Given the description of an element on the screen output the (x, y) to click on. 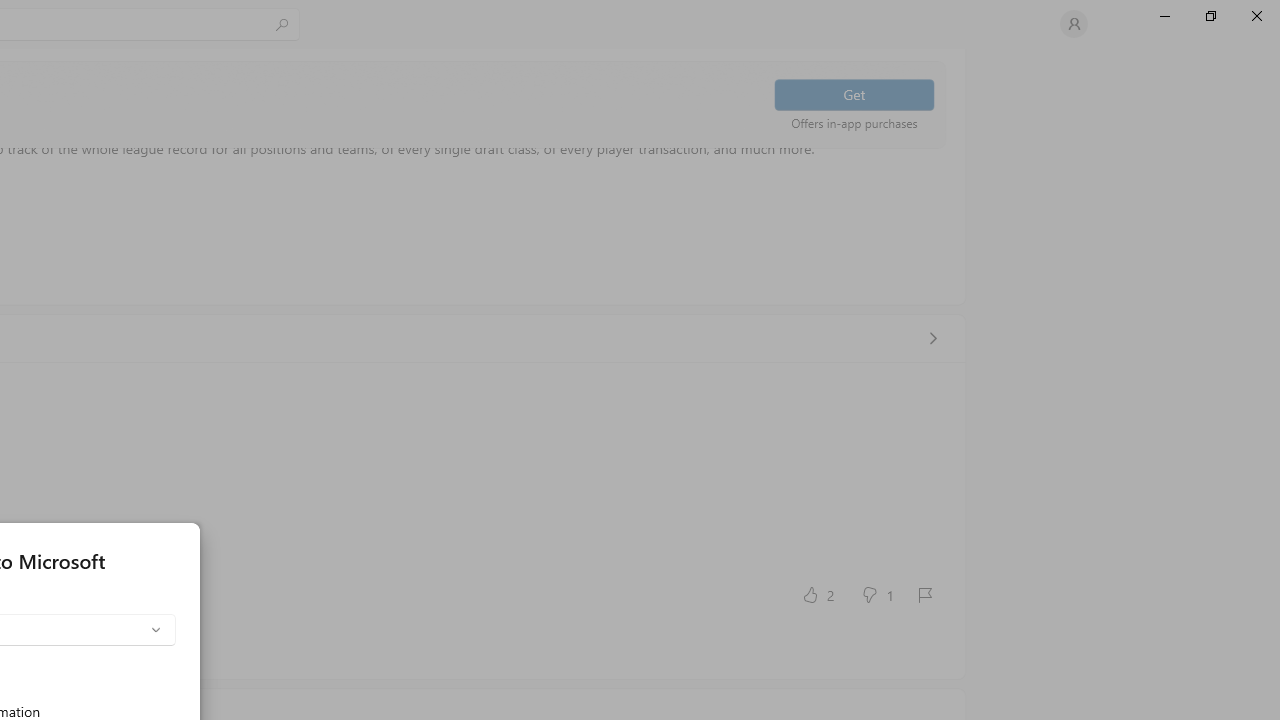
Yes, this was helpful. 2 votes. (816, 593)
Get (854, 94)
Show all ratings and reviews (932, 337)
No, this was not helpful. 1 votes. (875, 593)
Report review (924, 594)
